Given the description of an element on the screen output the (x, y) to click on. 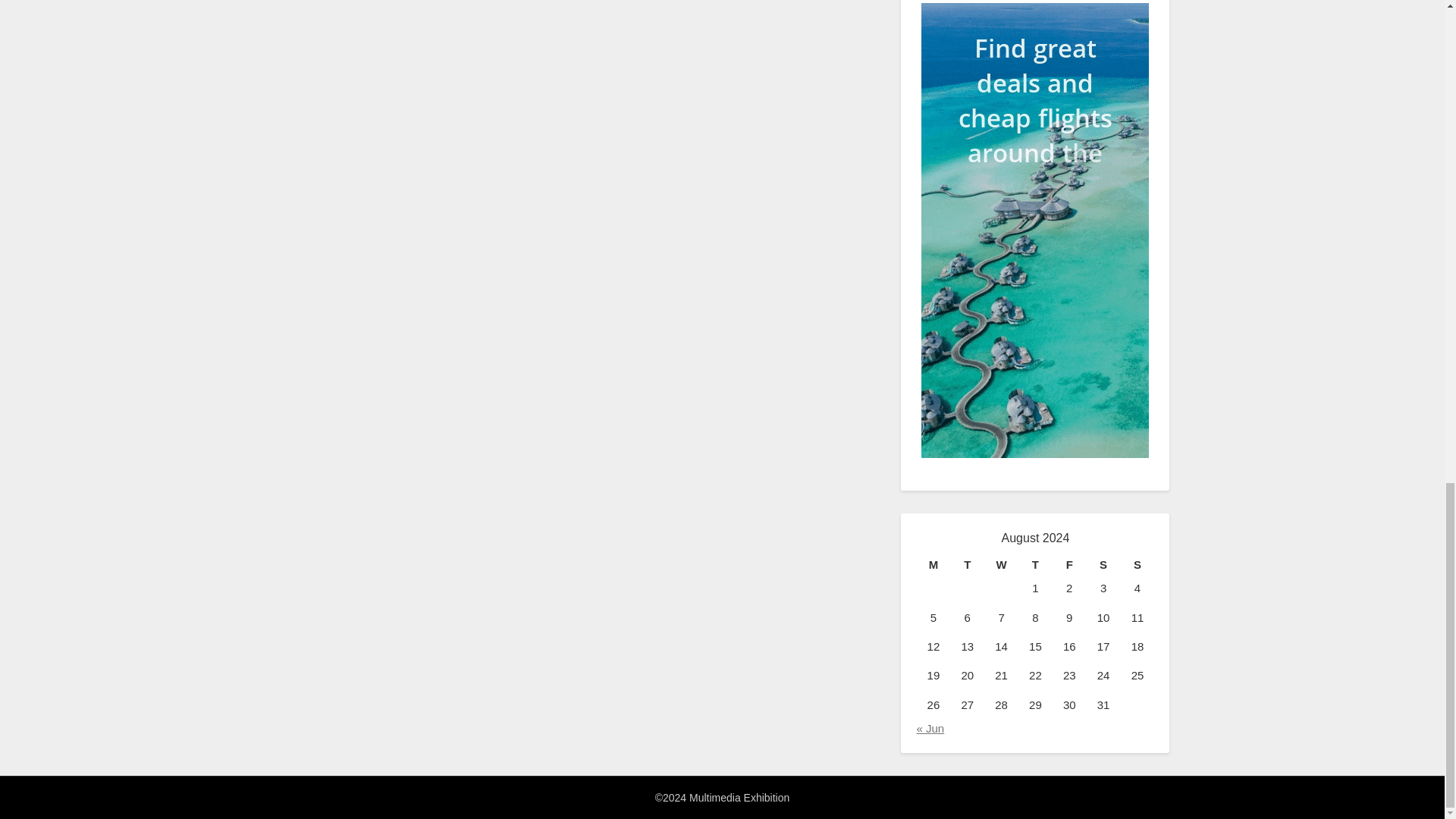
Tuesday (967, 565)
Thursday (1034, 565)
Saturday (1103, 565)
Sunday (1137, 565)
Wednesday (1000, 565)
Monday (932, 565)
Friday (1069, 565)
